Given the description of an element on the screen output the (x, y) to click on. 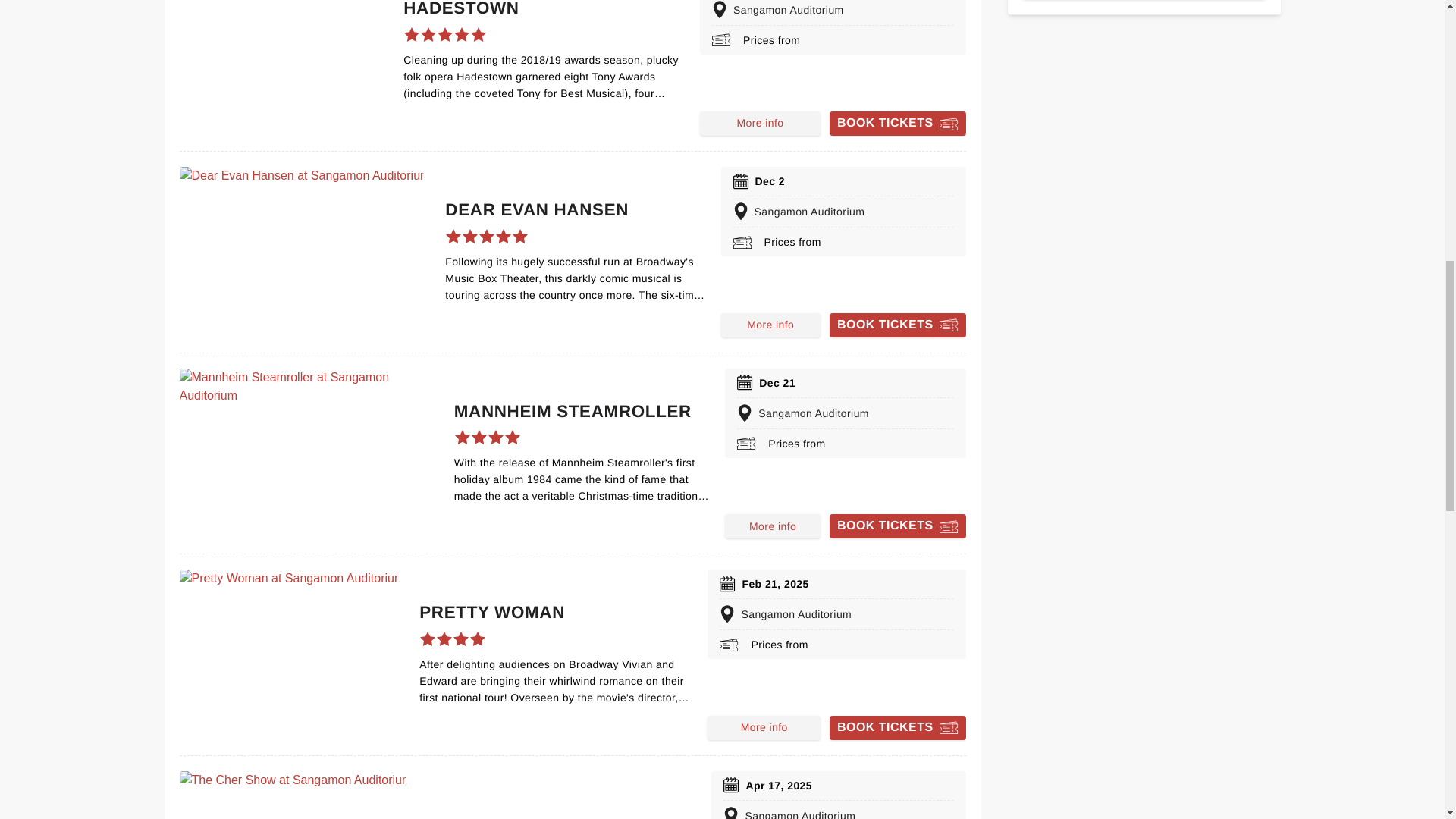
HADESTOWN (460, 9)
Sangamon Auditorium (832, 12)
